Given the description of an element on the screen output the (x, y) to click on. 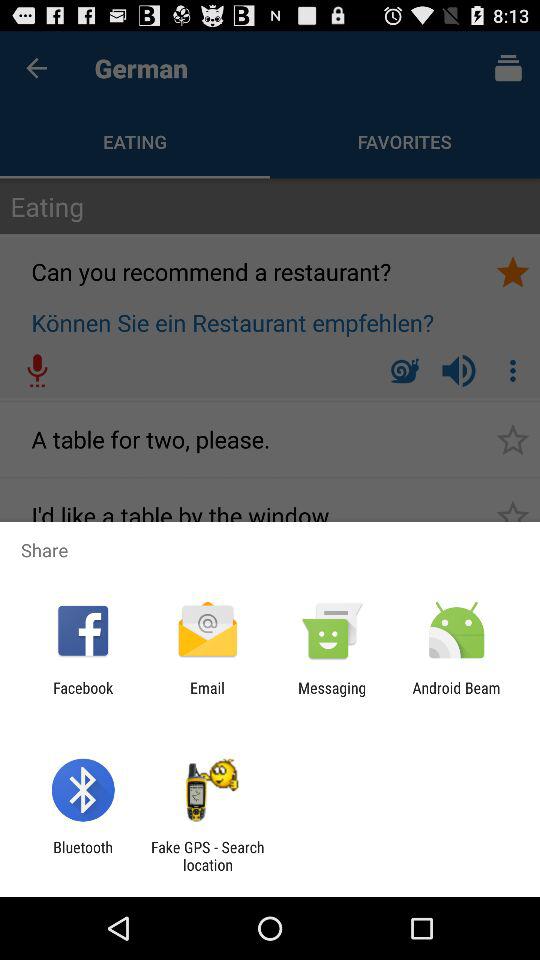
flip to messaging item (332, 696)
